Given the description of an element on the screen output the (x, y) to click on. 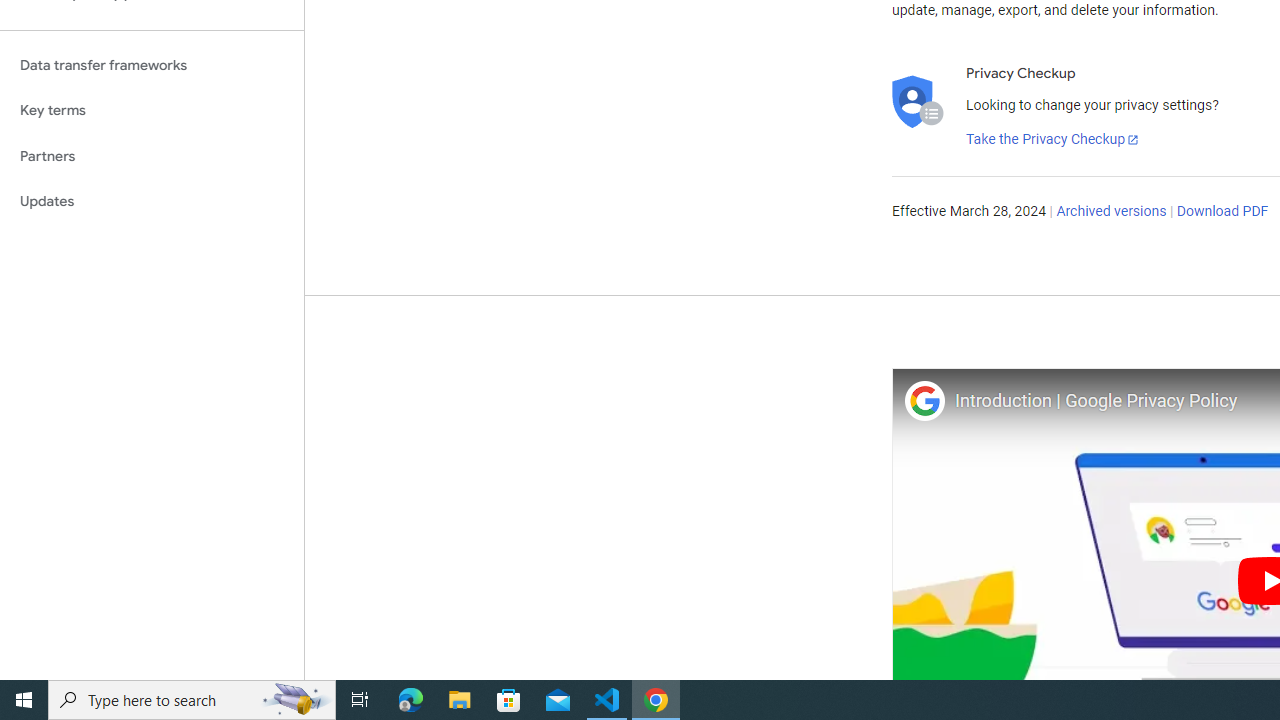
Photo image of Google (924, 400)
Take the Privacy Checkup (1053, 140)
